Given the description of an element on the screen output the (x, y) to click on. 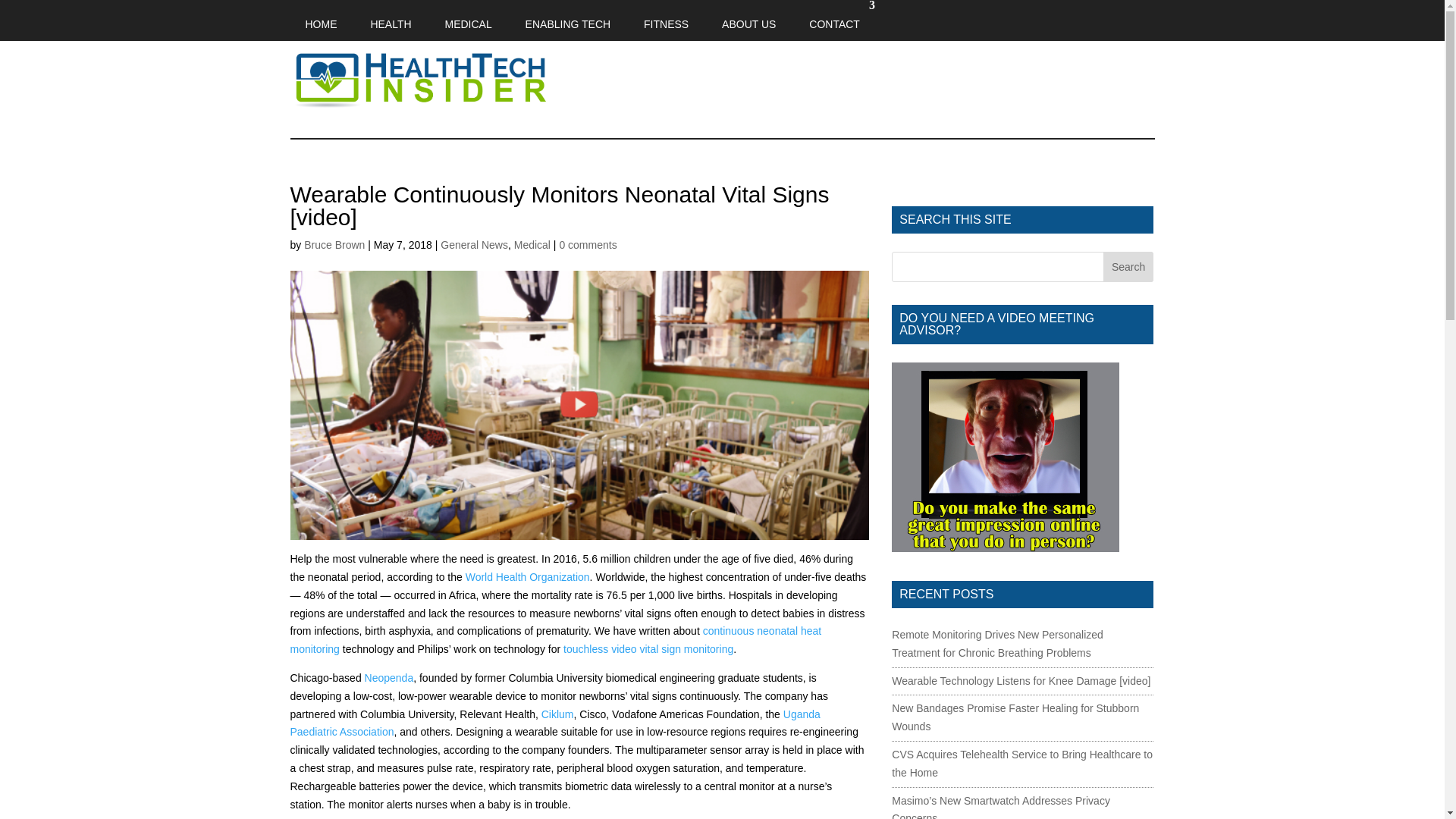
MEDICAL (467, 20)
ENABLING TECH (568, 20)
HOME (320, 20)
Neopenda (389, 677)
World Health Organization (527, 576)
ABOUT US (748, 20)
CONTACT (834, 20)
General News (474, 244)
Search (1128, 266)
HEALTH (390, 20)
